Given the description of an element on the screen output the (x, y) to click on. 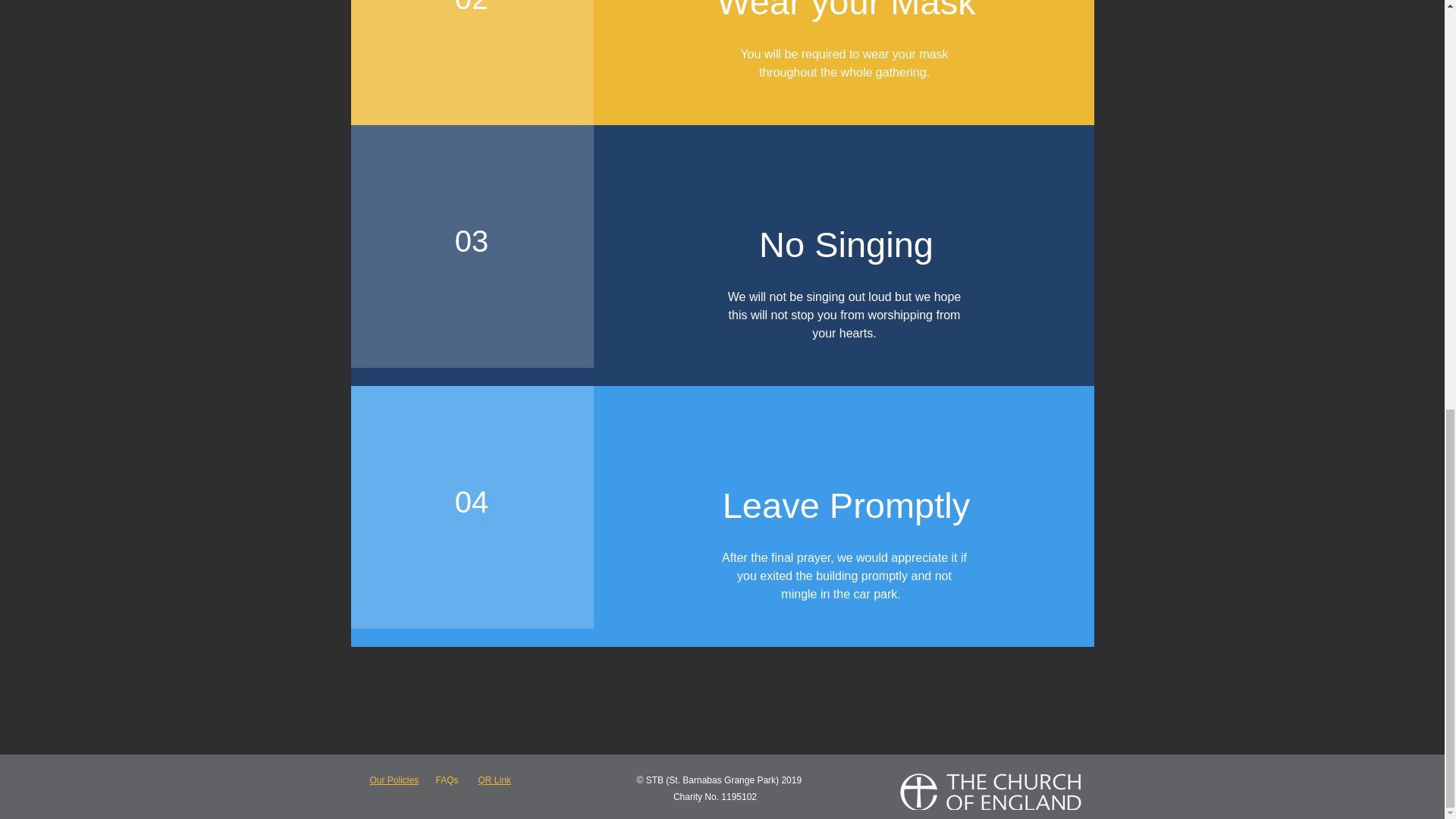
Our Policies (394, 779)
FAQs (446, 779)
QR Link (494, 779)
